Given the description of an element on the screen output the (x, y) to click on. 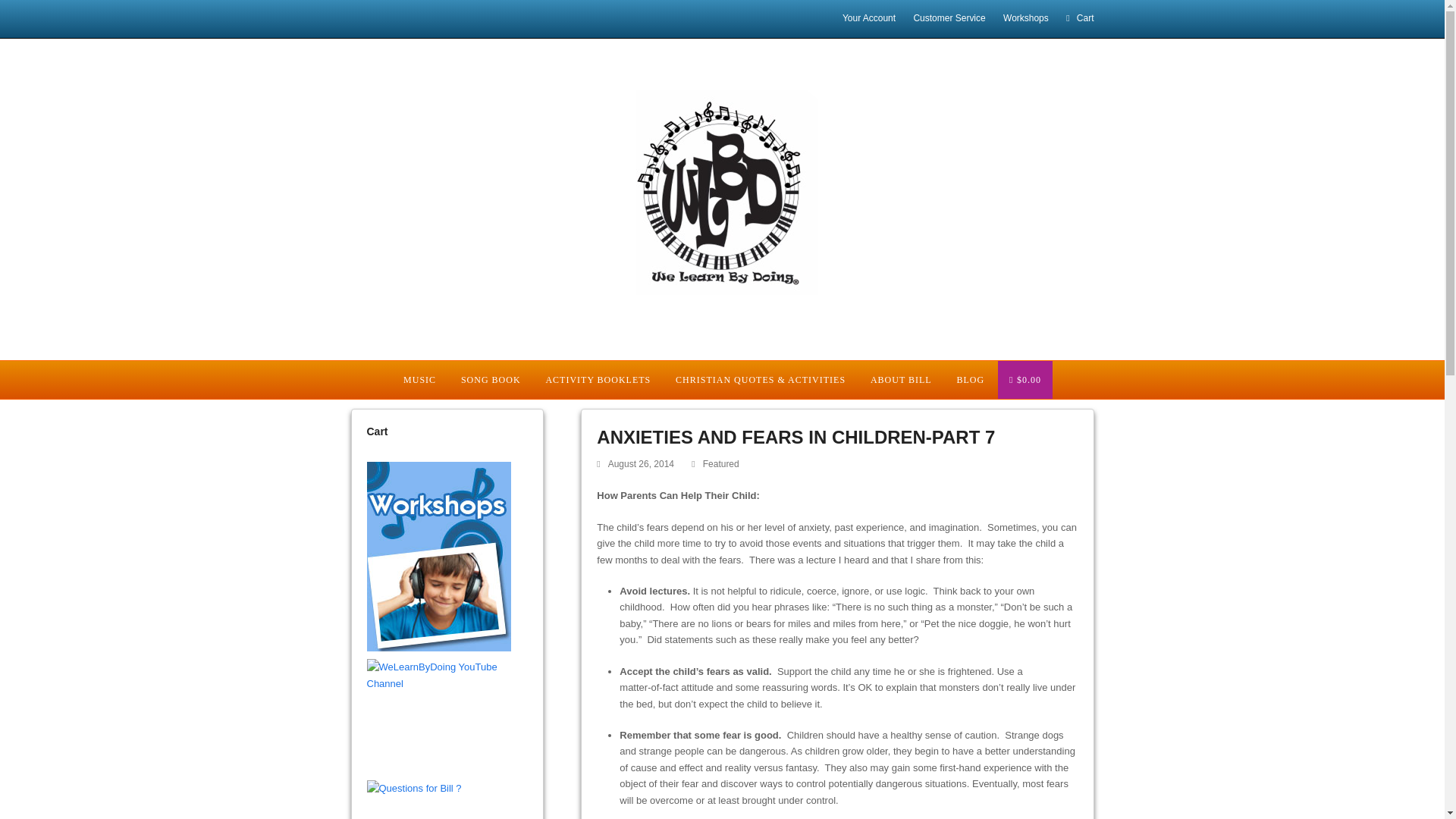
Workshops (1025, 18)
Cart (1079, 18)
Your Account (869, 18)
ABOUT BILL (900, 379)
MUSIC (418, 379)
ACTIVITY BOOKLETS (598, 379)
SONG BOOK (490, 379)
Customer Service (948, 18)
BLOG (969, 379)
Featured (721, 463)
